Given the description of an element on the screen output the (x, y) to click on. 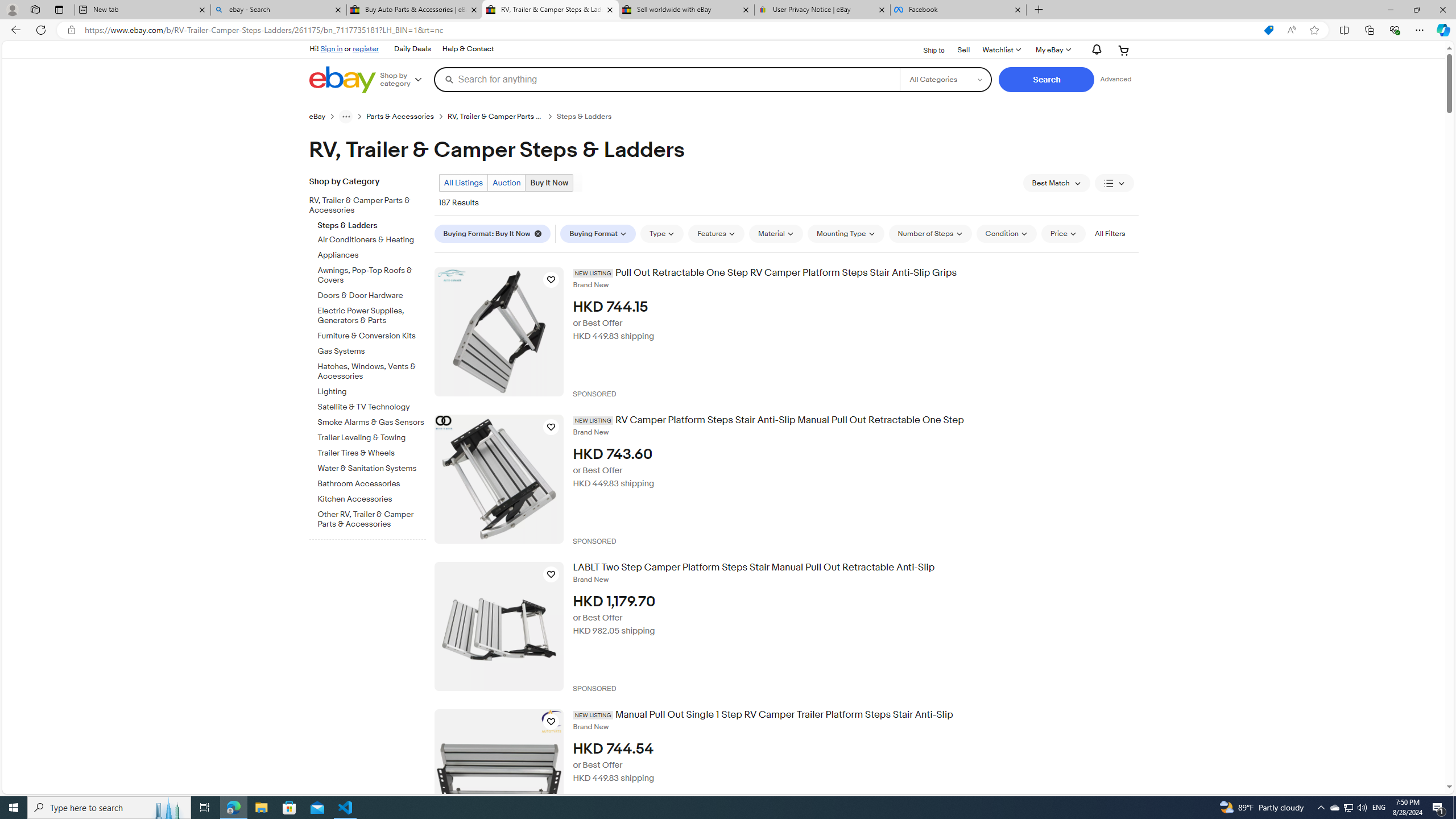
Trailer Leveling & Towing (371, 435)
Sell (963, 49)
Select a category for search (945, 78)
Hatches, Windows, Vents & Accessories (371, 371)
Features (716, 233)
Your shopping cart (1123, 49)
Hatches, Windows, Vents & Accessories (371, 369)
Price (1063, 233)
Steps & Ladders (371, 223)
Sign in (331, 48)
User Privacy Notice | eBay (822, 9)
Sell worldwide with eBay (685, 9)
